Given the description of an element on the screen output the (x, y) to click on. 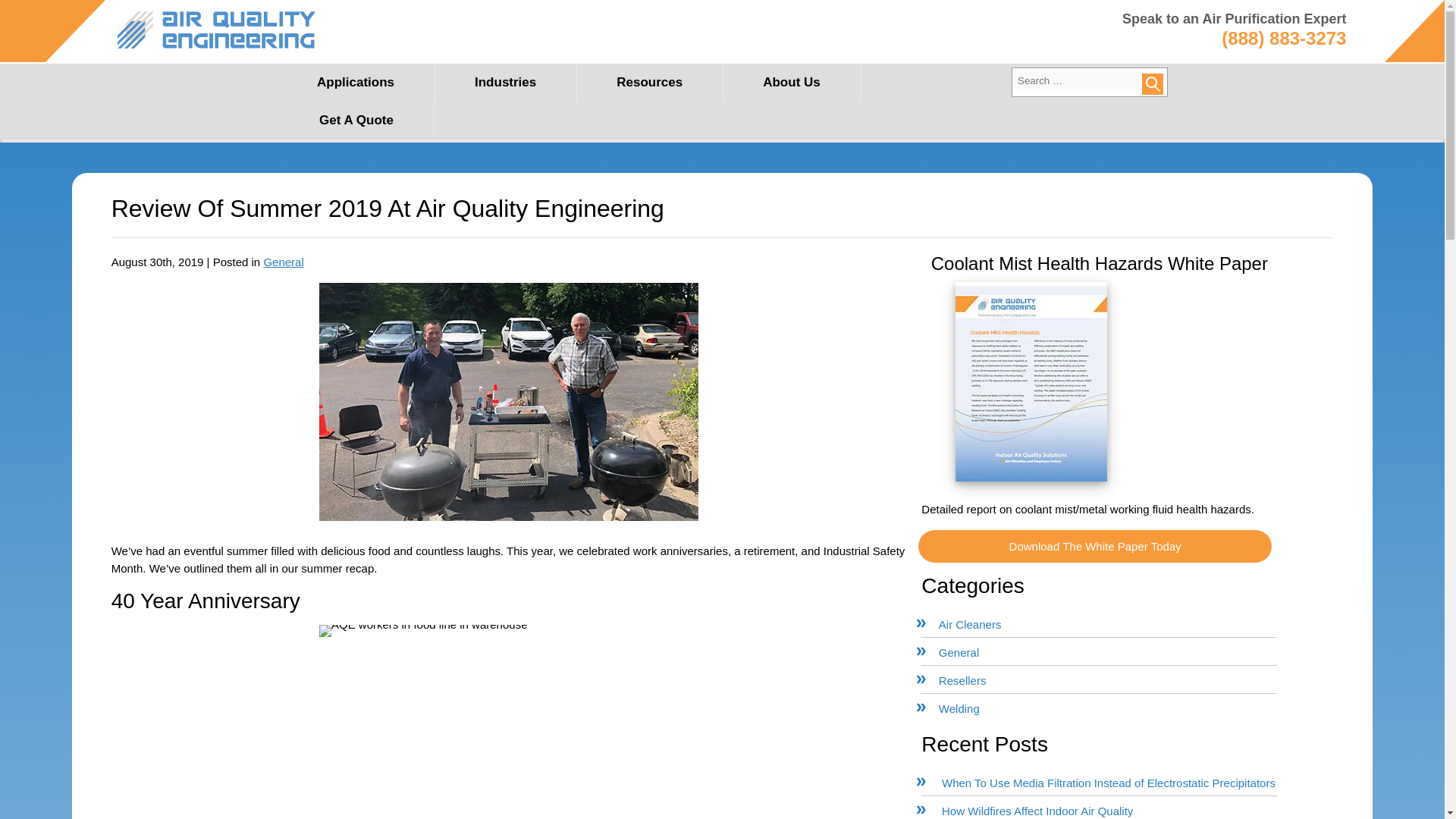
Search (1152, 84)
Search (1152, 84)
What Is In Coolant Mist And What Are Its Health Hazards (1094, 545)
Applications (355, 82)
Search (1152, 84)
